Given the description of an element on the screen output the (x, y) to click on. 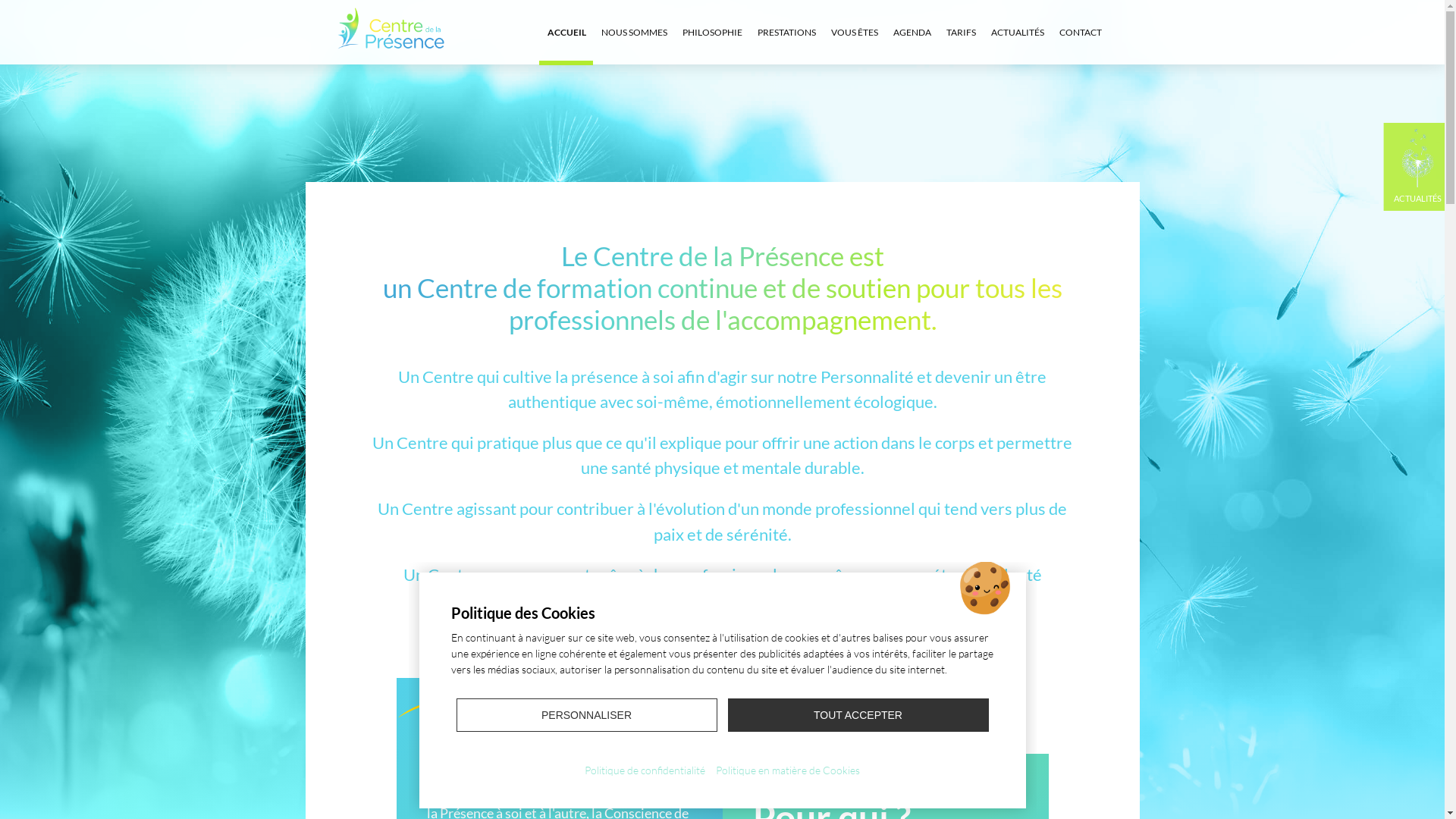
TOUT ACCEPTER Element type: text (858, 714)
PHILOSOPHIE Element type: text (712, 31)
PRESTATIONS Element type: text (785, 31)
PERSONNALISER Element type: text (586, 714)
ACCUEIL Element type: text (566, 31)
TARIFS Element type: text (960, 31)
CONTACT Element type: text (1079, 31)
NOUS SOMMES Element type: text (633, 31)
AGENDA Element type: text (912, 31)
